Given the description of an element on the screen output the (x, y) to click on. 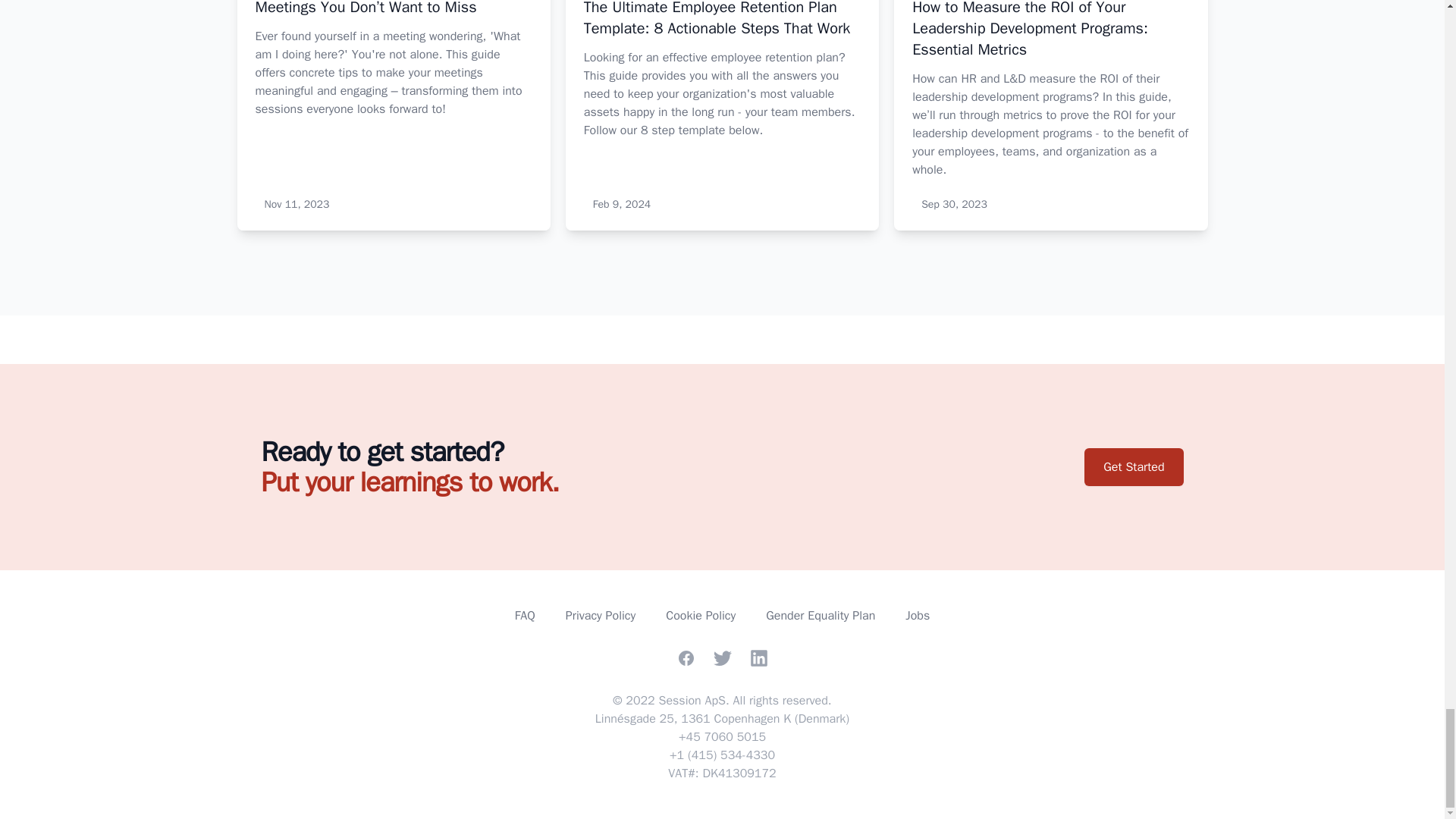
FAQ (525, 615)
Gender Equality Plan (820, 615)
Get Started (1133, 466)
Privacy Policy (600, 615)
Cookie Policy (700, 615)
Jobs (917, 615)
